Given the description of an element on the screen output the (x, y) to click on. 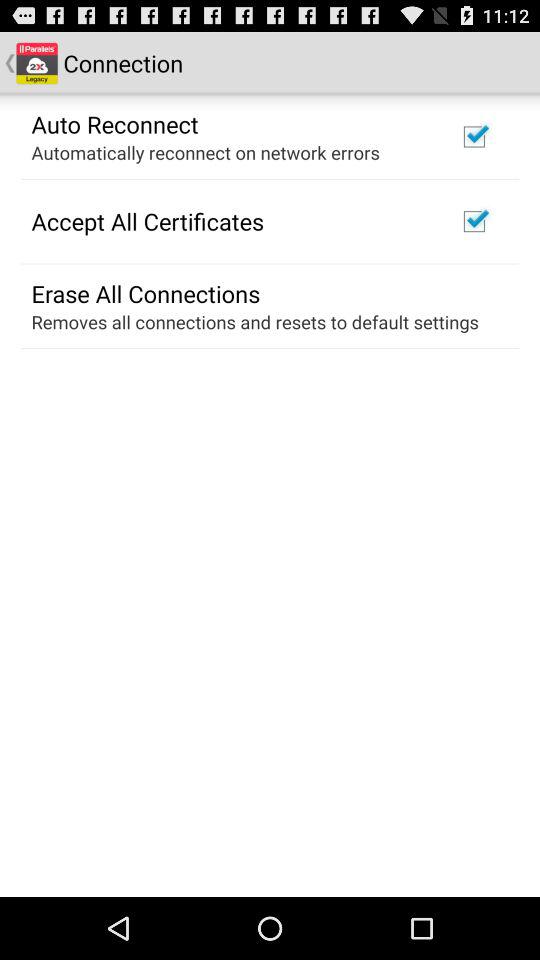
choose the auto reconnect icon (114, 123)
